Given the description of an element on the screen output the (x, y) to click on. 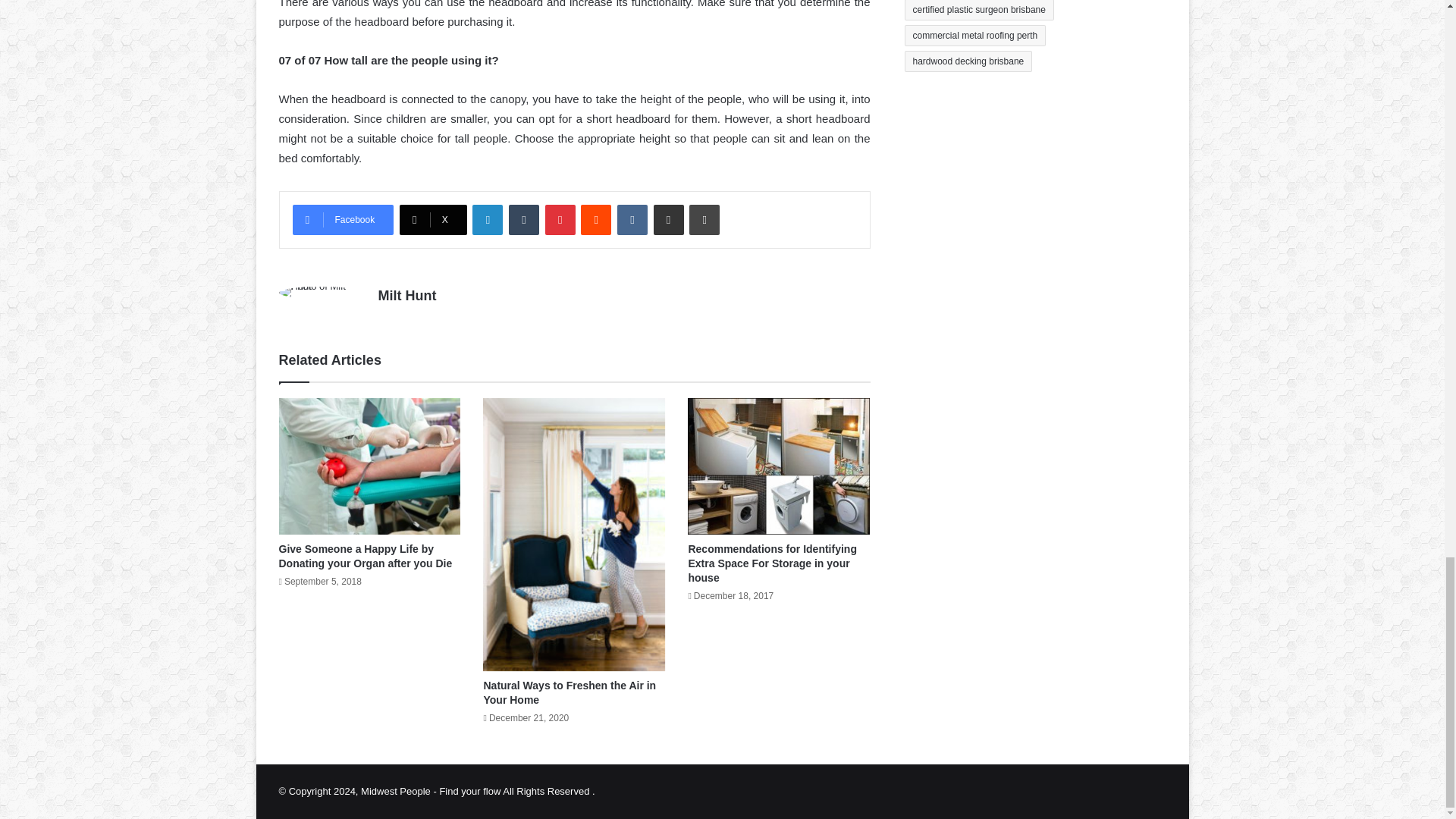
Reddit (595, 219)
Natural Ways to Freshen the Air in Your Home (569, 692)
Tumblr (523, 219)
VKontakte (632, 219)
Milt Hunt (406, 295)
X (432, 219)
X (432, 219)
VKontakte (632, 219)
Reddit (595, 219)
LinkedIn (486, 219)
Facebook (343, 219)
Facebook (343, 219)
LinkedIn (486, 219)
Share via Email (668, 219)
